Given the description of an element on the screen output the (x, y) to click on. 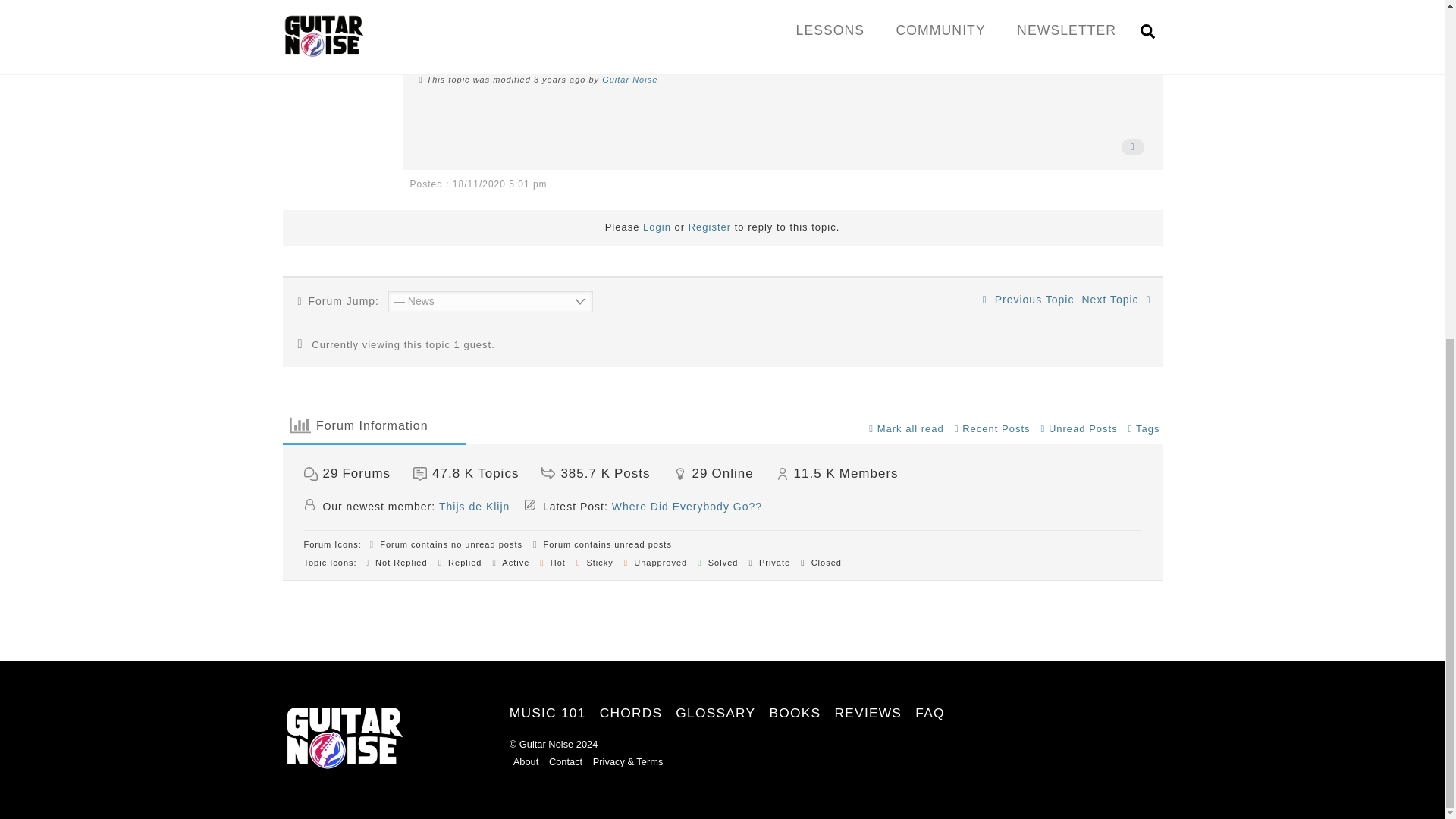
A new custom Guitar FX company - AlexanderFX (1028, 299)
  Previous Topic (1028, 299)
BOOKS (794, 712)
CHORDS (630, 712)
Guitar Noise (630, 79)
Register (709, 226)
GLOSSARY (715, 712)
Recent Posts (992, 428)
Tags (1144, 428)
MUSIC 101 (547, 712)
